Given the description of an element on the screen output the (x, y) to click on. 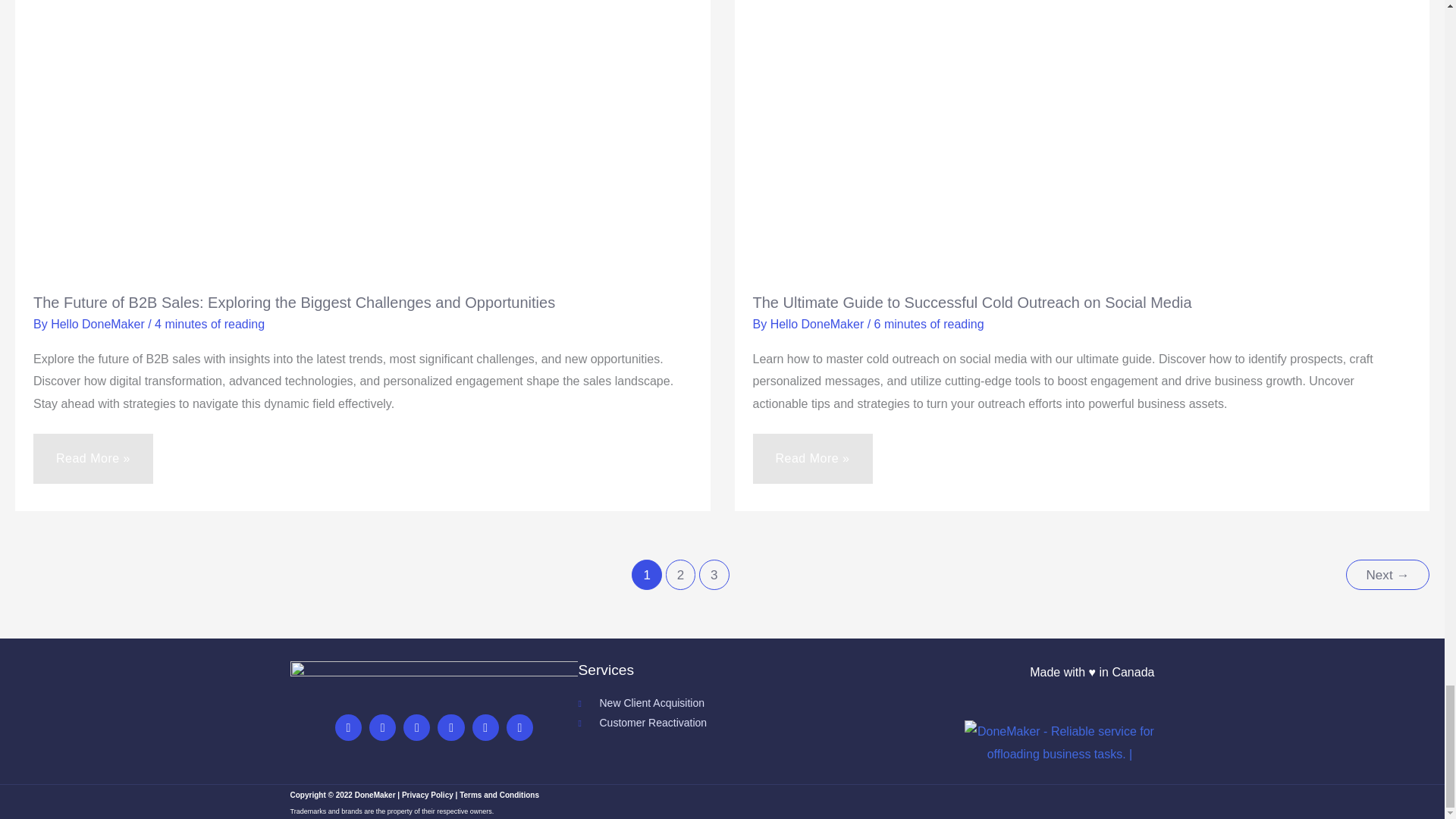
View all posts by Hello DoneMaker (99, 323)
View all posts by Hello DoneMaker (818, 323)
